Given the description of an element on the screen output the (x, y) to click on. 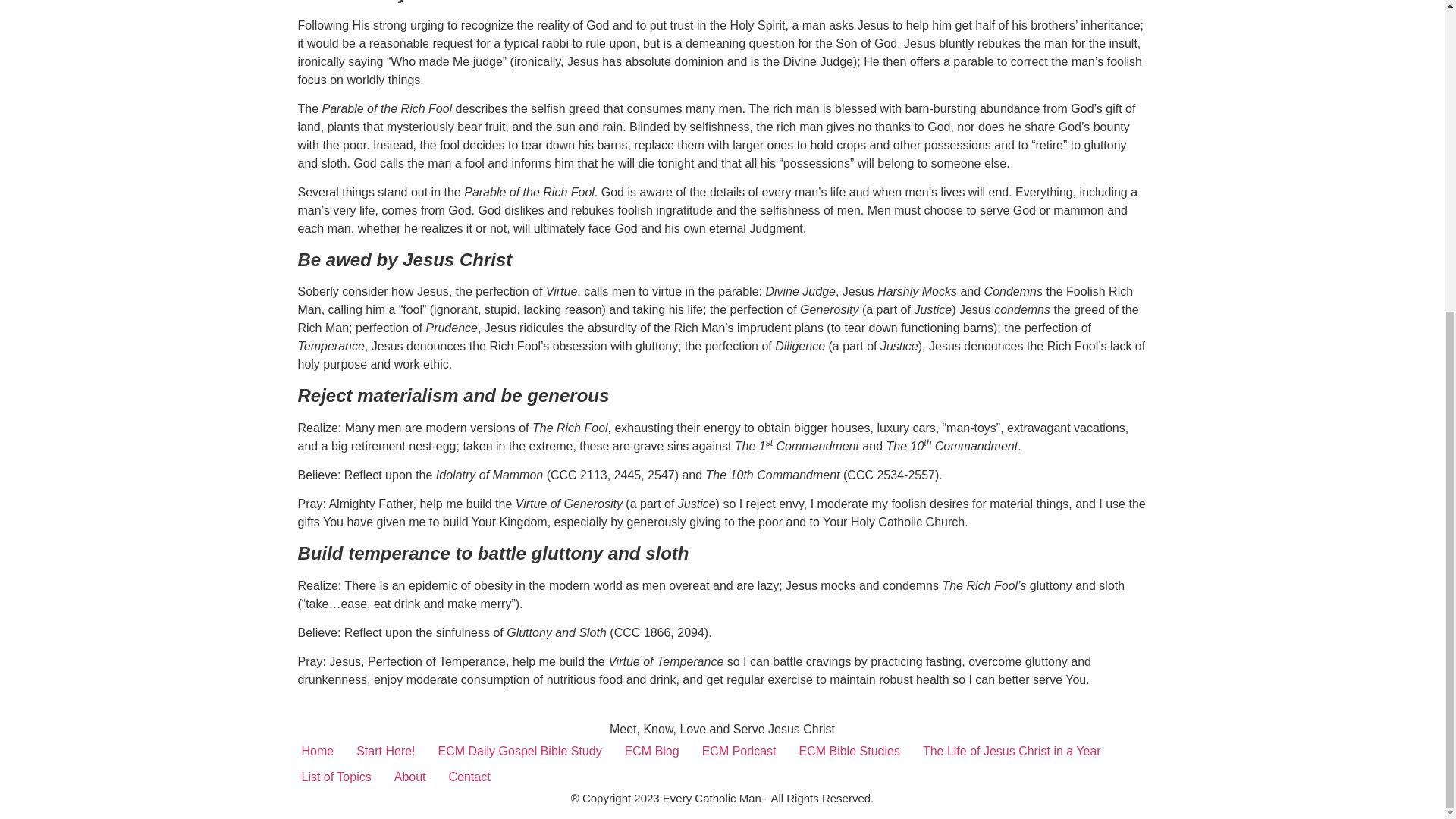
ECM Daily Gospel Bible Study (519, 751)
The Life of Jesus Christ in a Year (1011, 751)
ECM Bible Studies (849, 751)
ECM Blog (651, 751)
Contact (470, 777)
Home (317, 751)
List of Topics (335, 777)
ECM Podcast (738, 751)
About (410, 777)
Start Here! (385, 751)
